Given the description of an element on the screen output the (x, y) to click on. 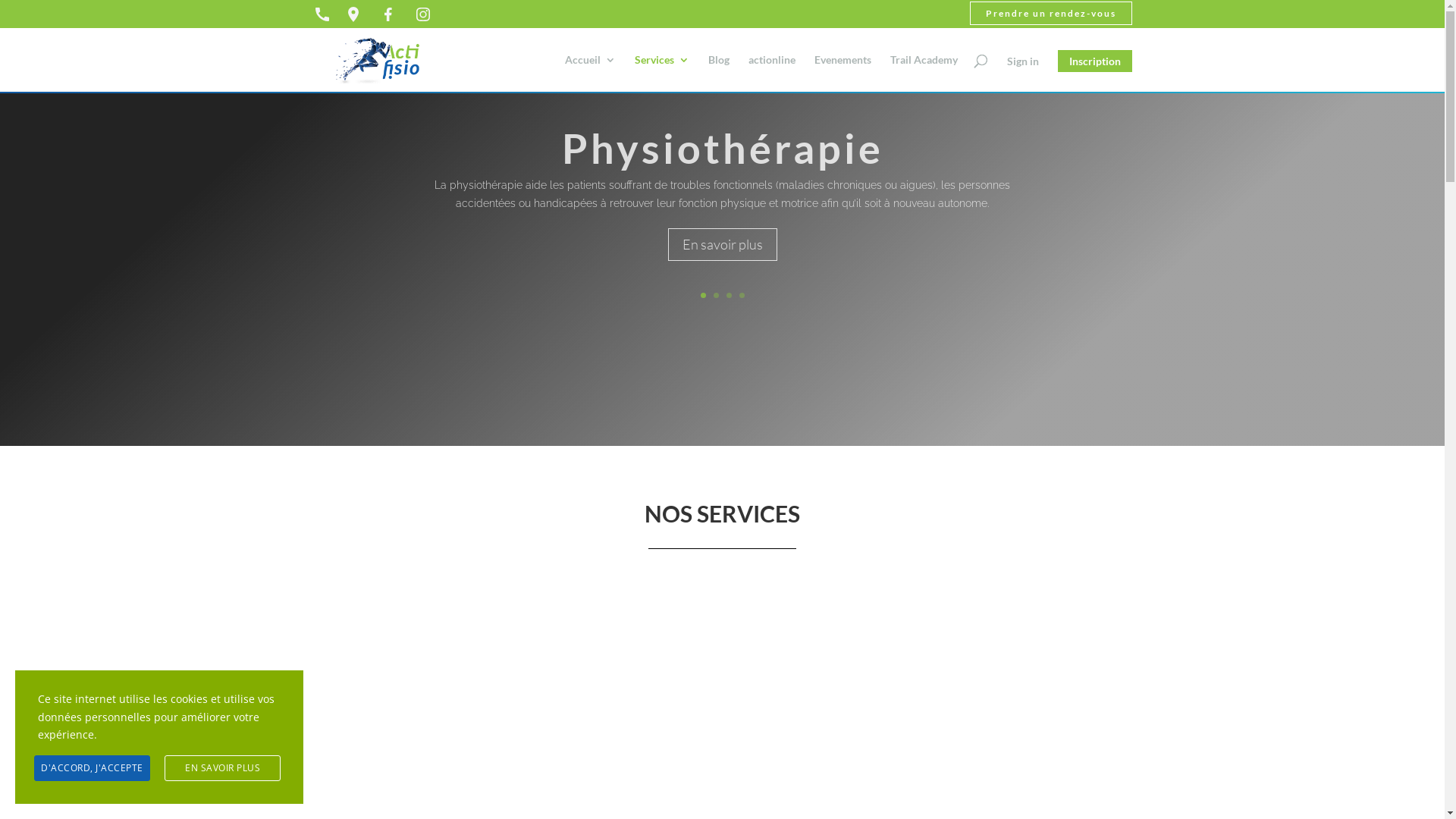
actionline Element type: text (770, 72)
S'inscrire Element type: text (937, 80)
Prendre un rendez-vous Element type: text (1050, 13)
D'ACCORD, J'ACCEPTE Element type: text (92, 768)
1 Element type: text (703, 295)
2 Element type: text (715, 295)
3 Element type: text (728, 295)
Services Element type: text (660, 72)
EN SAVOIR PLUS Element type: text (222, 768)
4 Element type: text (740, 295)
Inscription Element type: text (1094, 61)
Evenements Element type: text (842, 72)
Blog Element type: text (718, 72)
Trail Academy Element type: text (923, 72)
En savoir plus Element type: text (721, 244)
Accueil Element type: text (589, 72)
Sign in Element type: text (1021, 61)
